Given the description of an element on the screen output the (x, y) to click on. 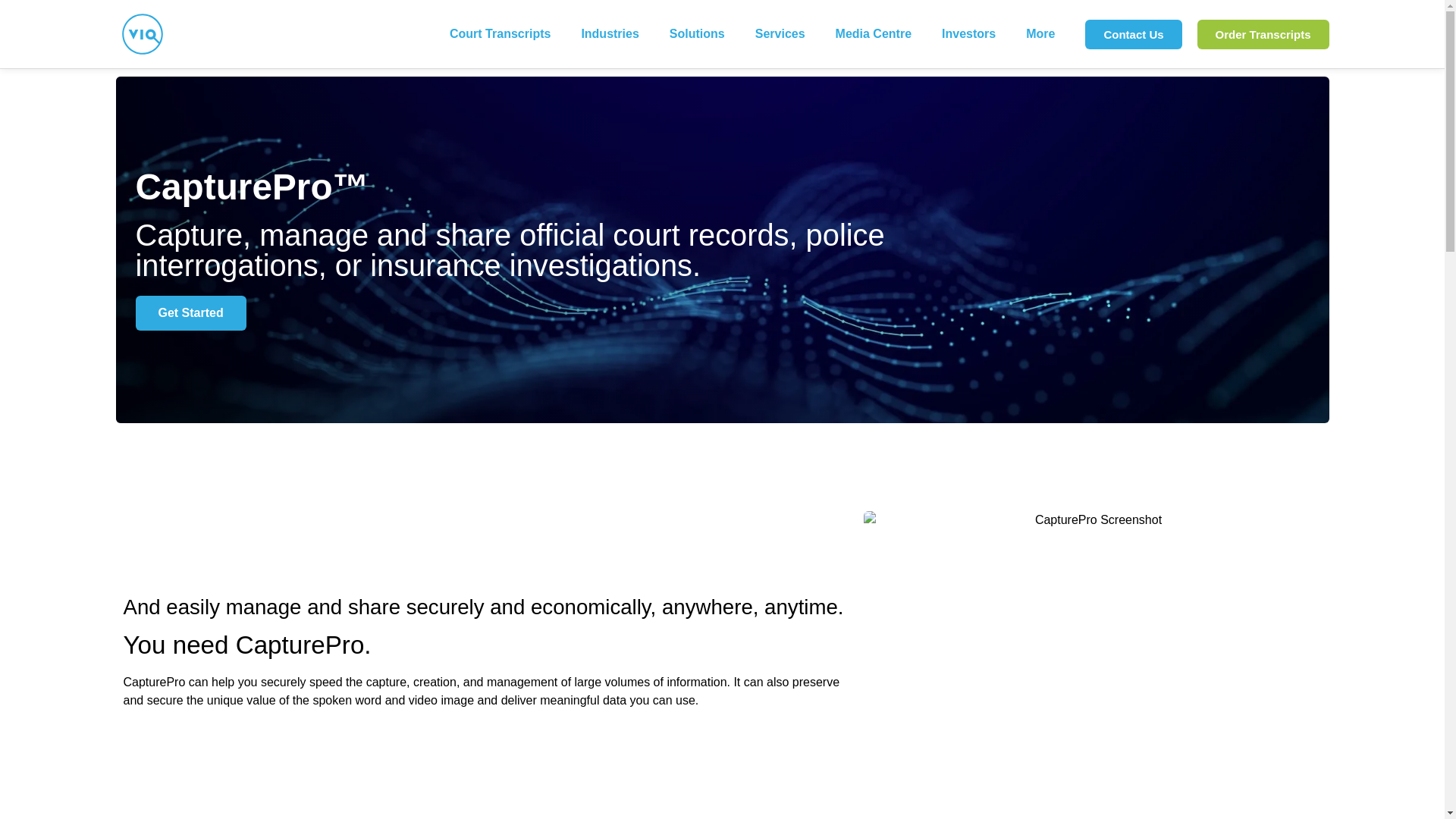
Media Centre (873, 33)
Court Transcripts (499, 33)
Solutions (696, 33)
Services (780, 33)
Industries (609, 33)
